Given the description of an element on the screen output the (x, y) to click on. 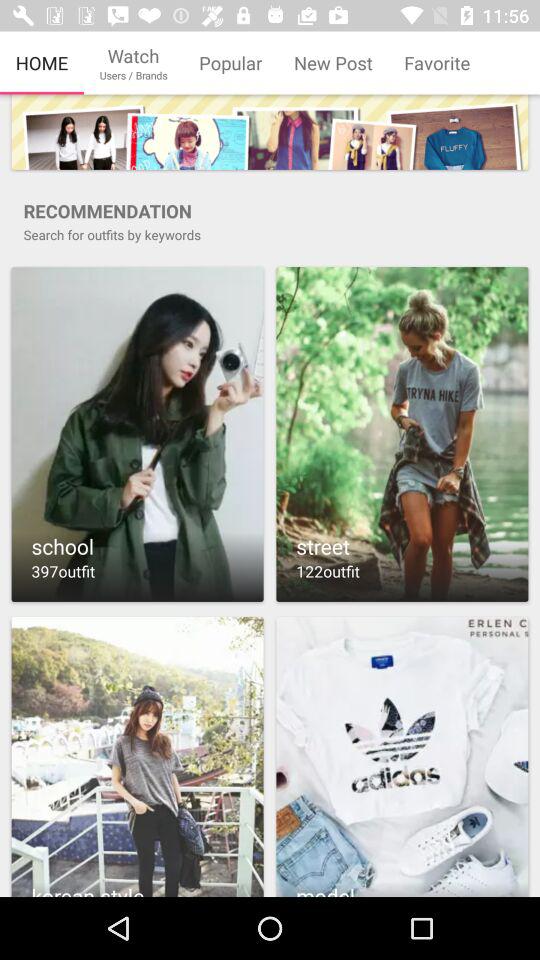
opens search results for street (402, 434)
